Given the description of an element on the screen output the (x, y) to click on. 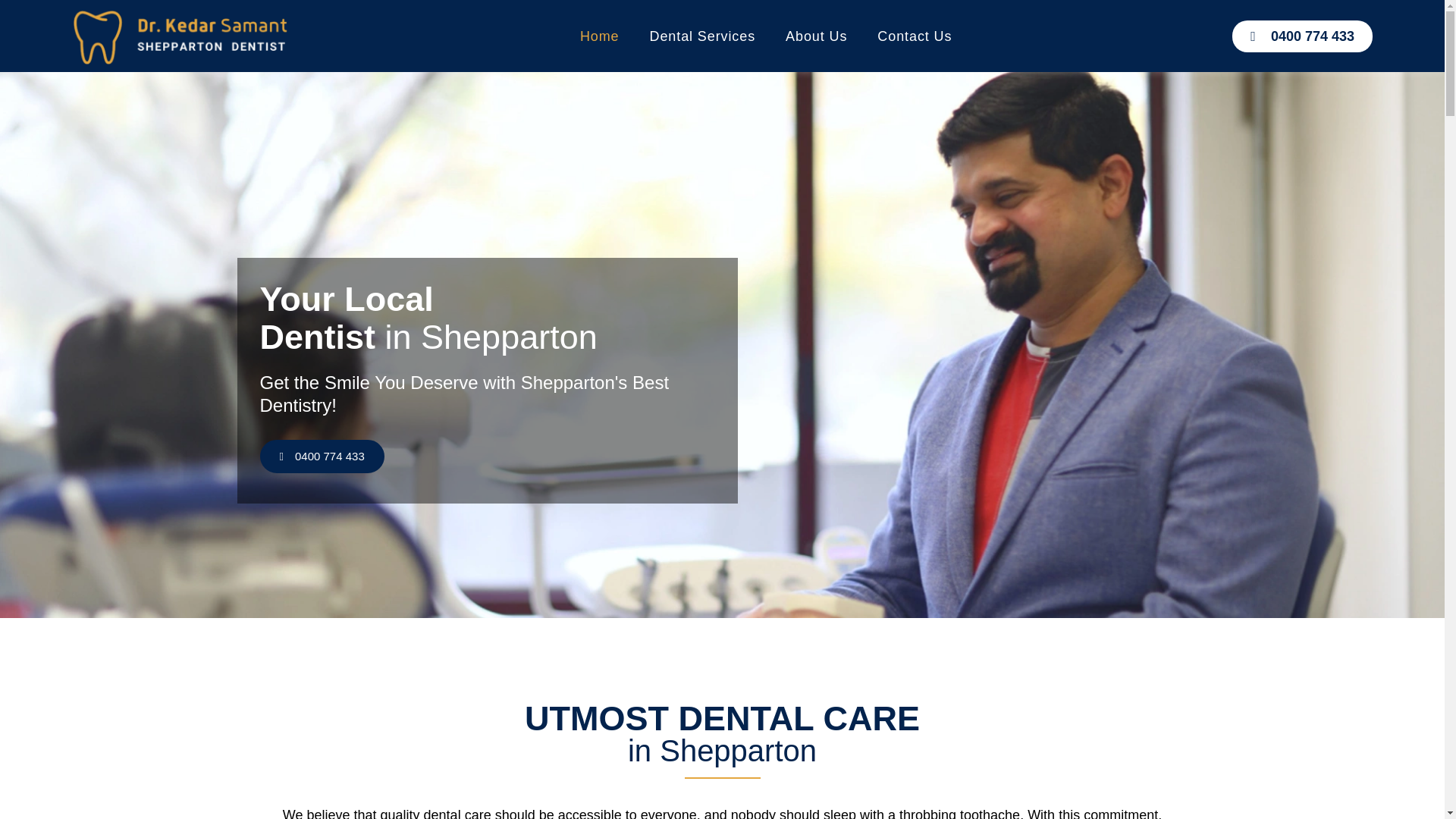
Home (599, 35)
About Us (815, 35)
Dental Services (702, 35)
0400 774 433 (321, 456)
0400 774 433 (1302, 35)
Contact Us (913, 35)
